Given the description of an element on the screen output the (x, y) to click on. 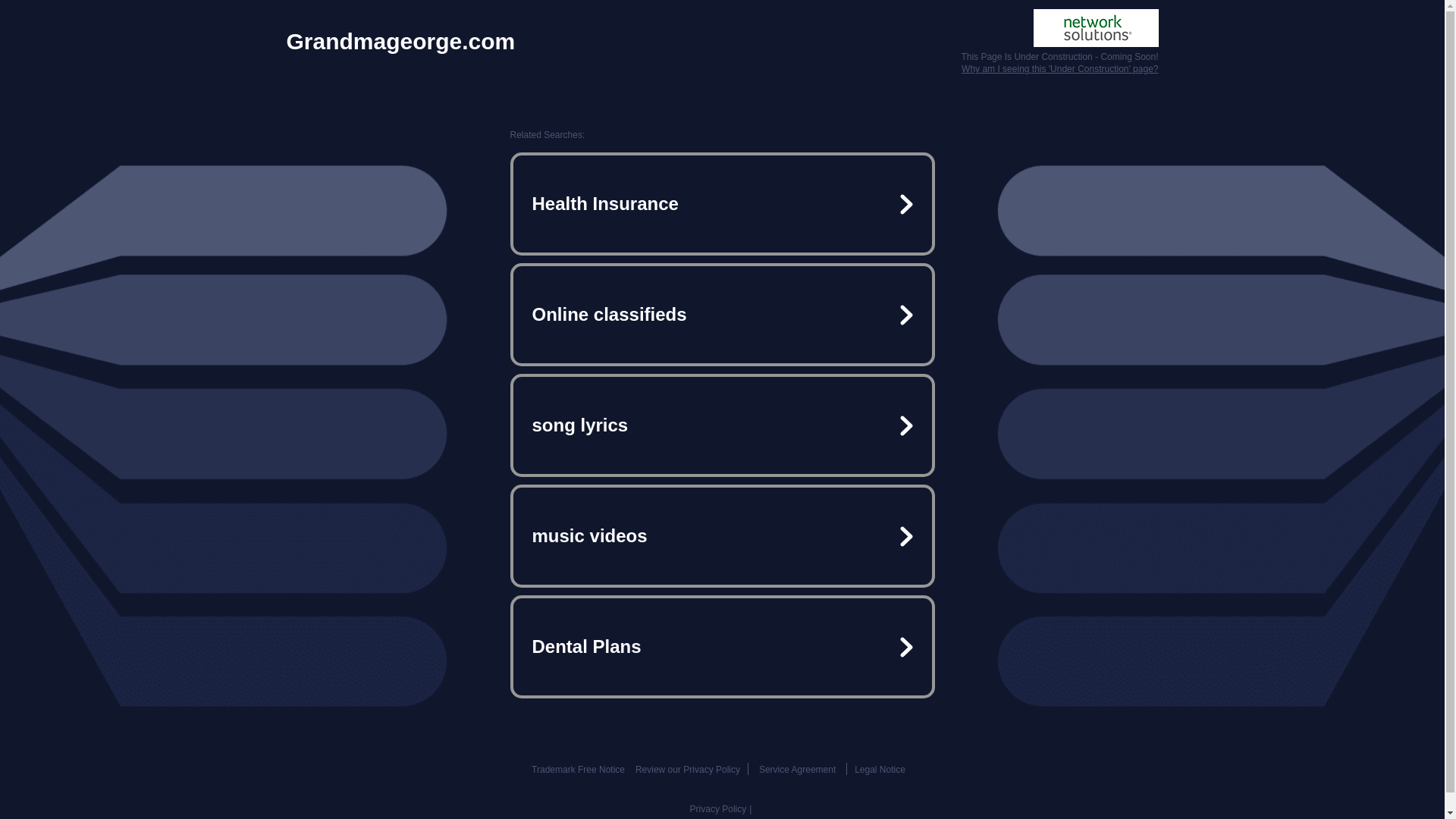
music videos (721, 535)
music videos (721, 535)
Health Insurance (721, 203)
song lyrics (721, 425)
Privacy Policy (718, 808)
Grandmageorge.com (400, 41)
Service Agreement (796, 769)
Online classifieds (721, 314)
song lyrics (721, 425)
Dental Plans (721, 646)
